Given the description of an element on the screen output the (x, y) to click on. 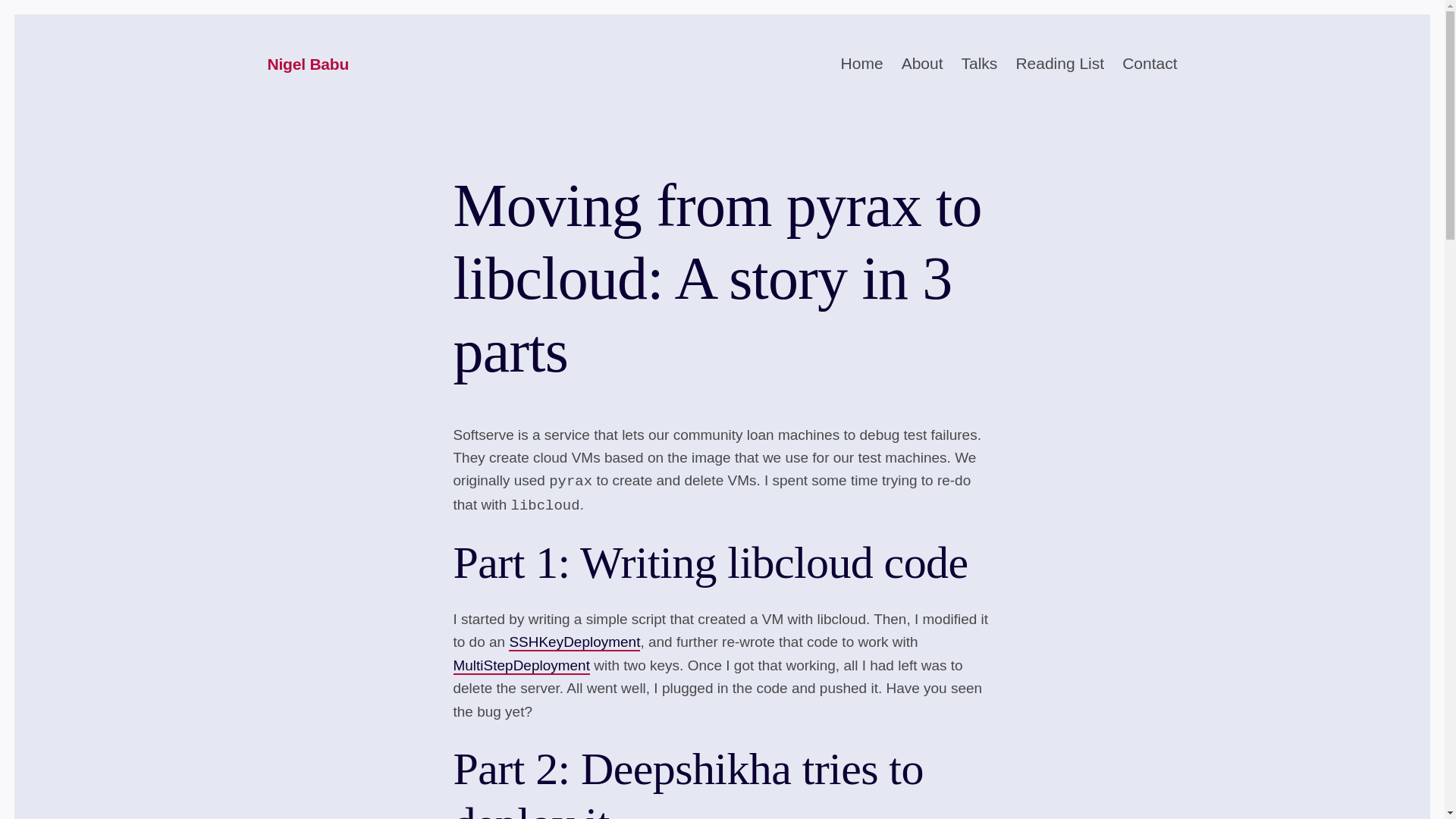
About (922, 63)
Home (862, 63)
MultiStepDeployment (520, 665)
SSHKeyDeployment (574, 642)
Talks (978, 63)
Nigel Babu (307, 64)
Reading List (1058, 63)
Contact (1149, 63)
